Given the description of an element on the screen output the (x, y) to click on. 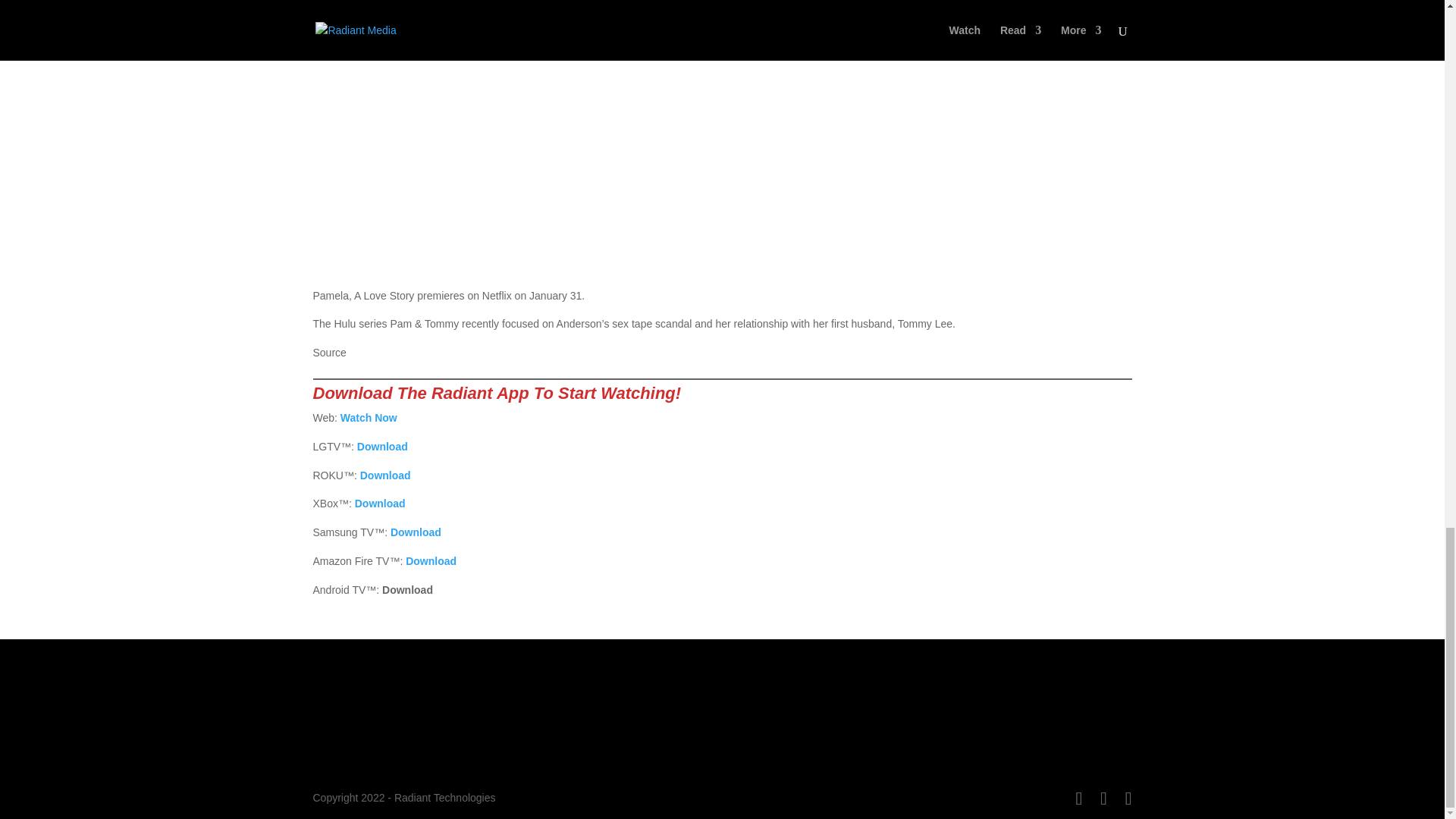
Download (384, 475)
Download (431, 561)
Watch Now (368, 417)
Download (415, 532)
Download (381, 446)
Download (380, 503)
